Given the description of an element on the screen output the (x, y) to click on. 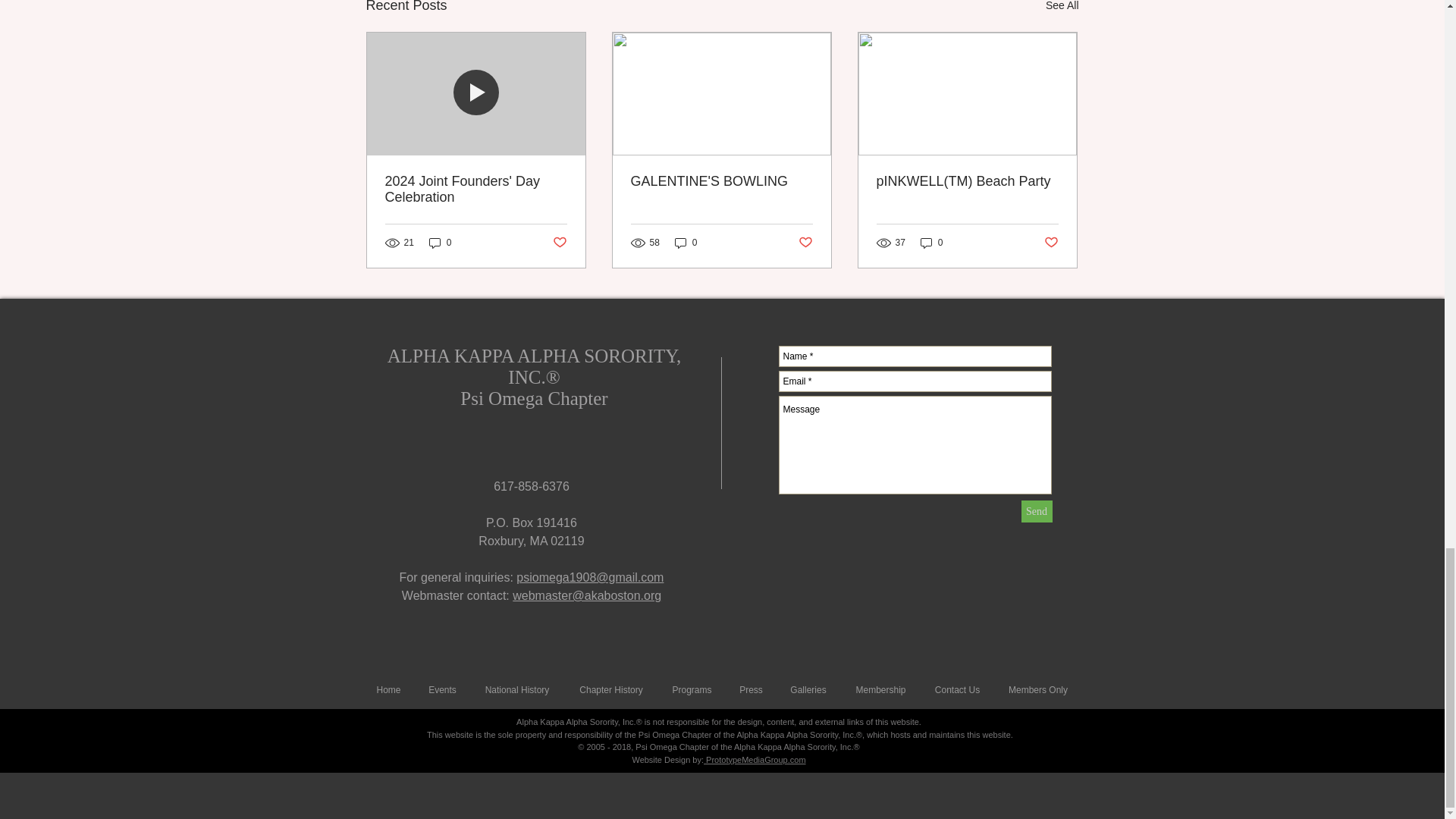
GALENTINE'S BOWLING (721, 181)
Post not marked as liked (804, 242)
0 (440, 242)
Post not marked as liked (558, 242)
2024 Joint Founders' Day Celebration (476, 189)
0 (685, 242)
See All (1061, 8)
